Given the description of an element on the screen output the (x, y) to click on. 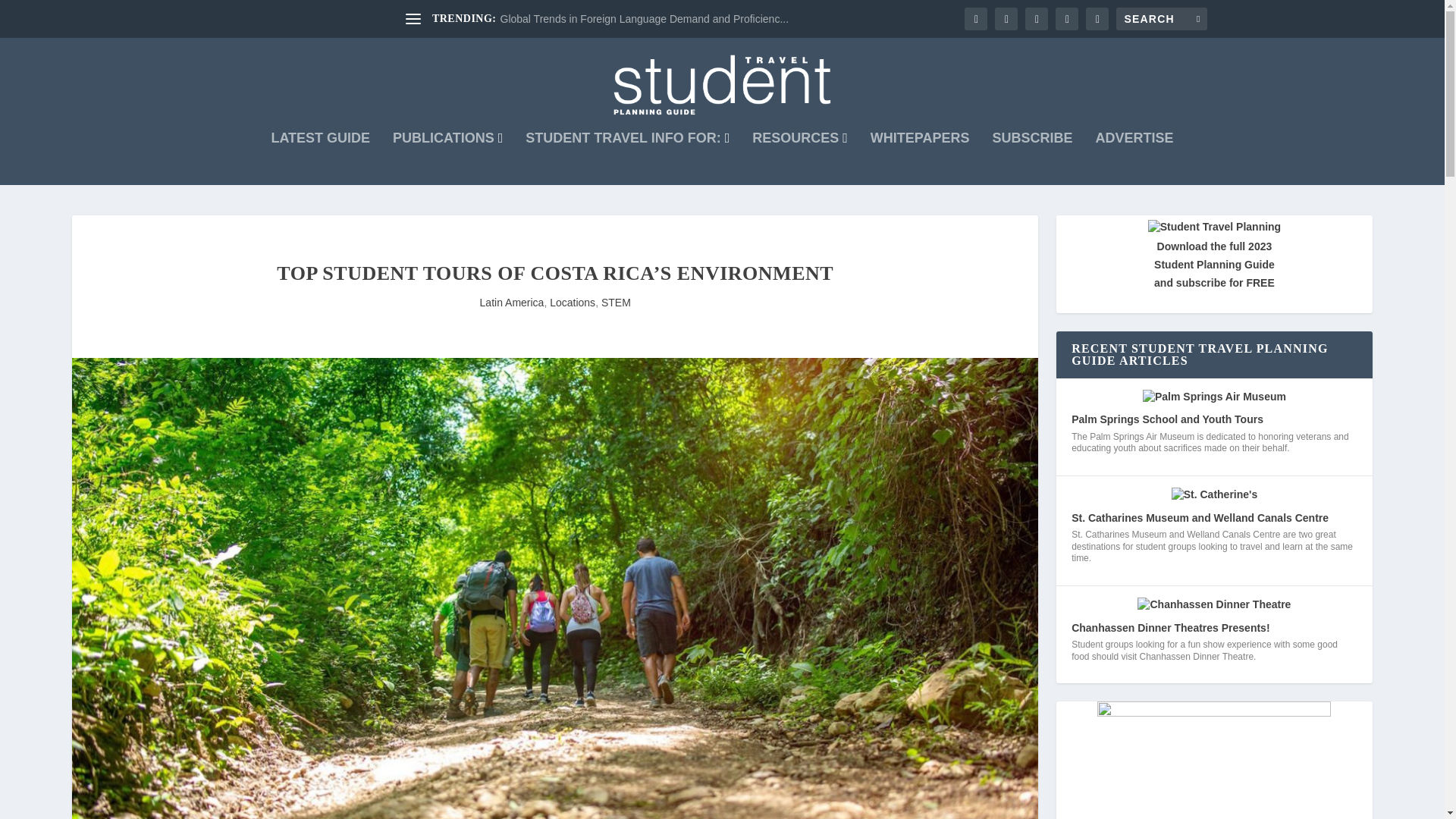
LATEST GUIDE (319, 158)
PUBLICATIONS (447, 158)
Search for: (1161, 18)
RESOURCES (799, 158)
STUDENT TRAVEL INFO FOR: (627, 158)
Global Trends in Foreign Language Demand and Proficienc... (644, 19)
